Given the description of an element on the screen output the (x, y) to click on. 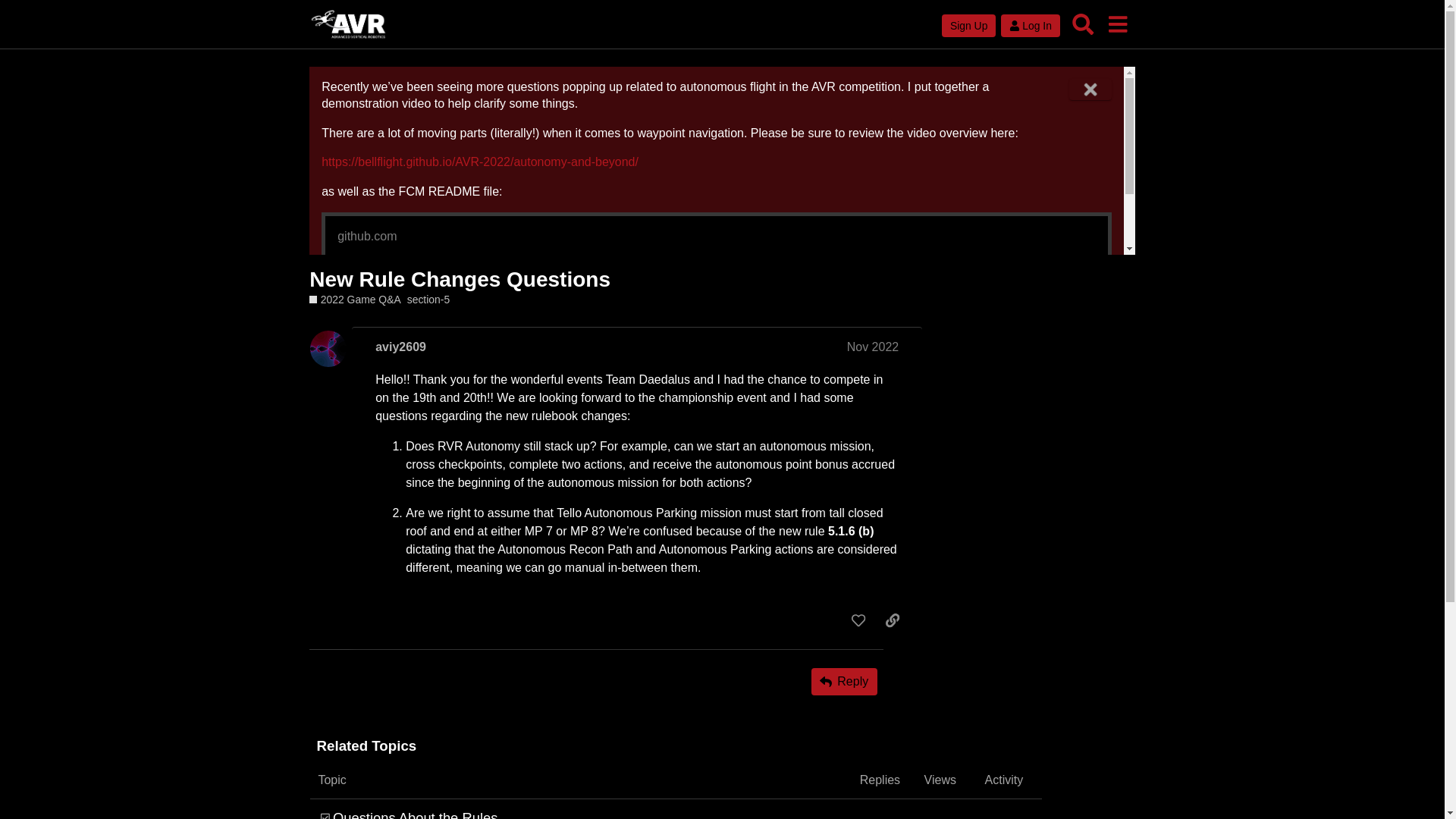
Reply (843, 681)
Sign Up (968, 25)
Nov 2022 (873, 346)
section-5 (428, 299)
aviy2609 (400, 347)
menu (1117, 23)
New Rule Changes Questions (459, 279)
1 (879, 814)
Dismiss this banner (1090, 88)
Log In (1030, 25)
